Given the description of an element on the screen output the (x, y) to click on. 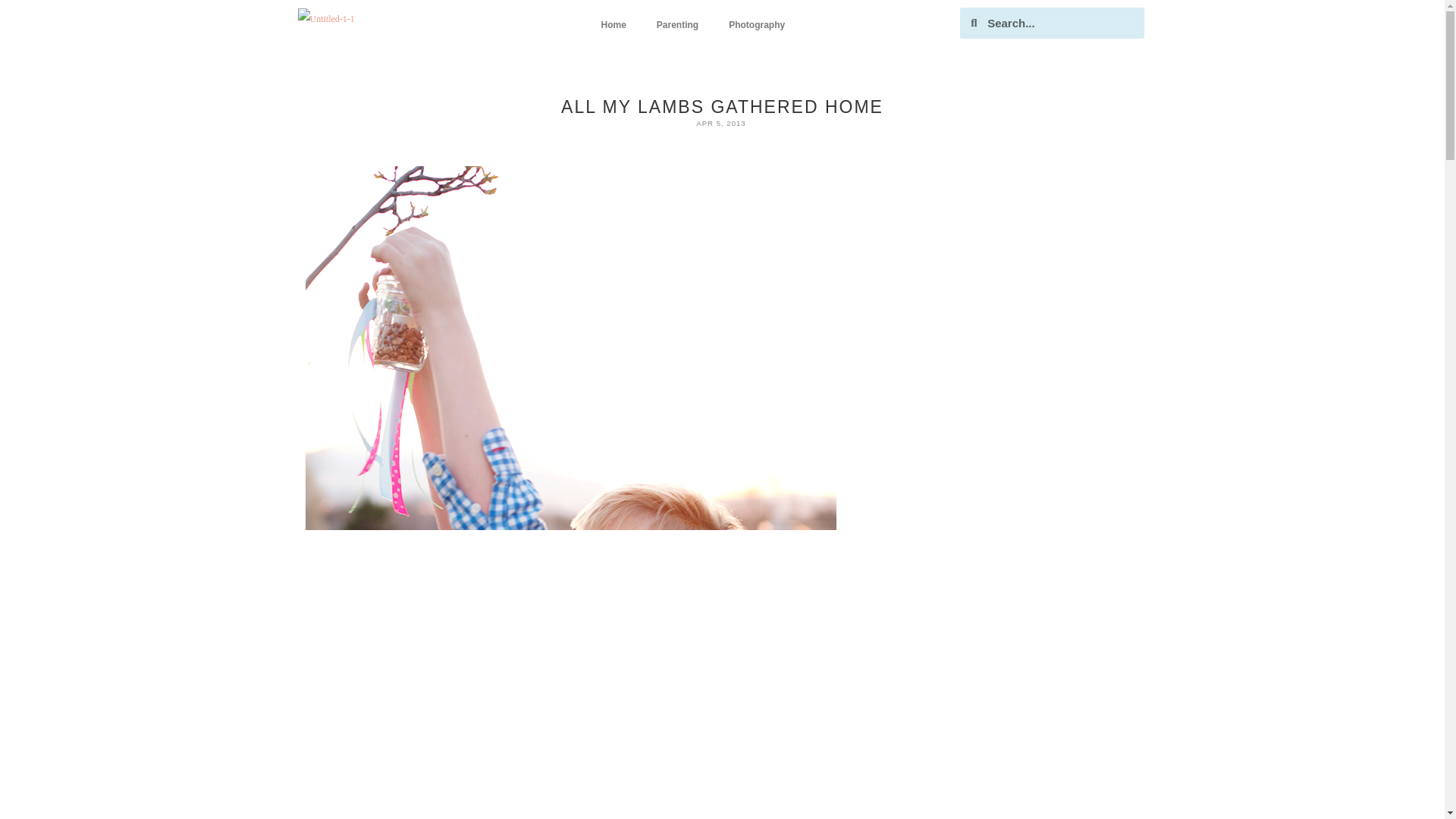
Photography (756, 24)
Parenting (677, 24)
Untitled-1-1 (325, 18)
Home (612, 24)
